Given the description of an element on the screen output the (x, y) to click on. 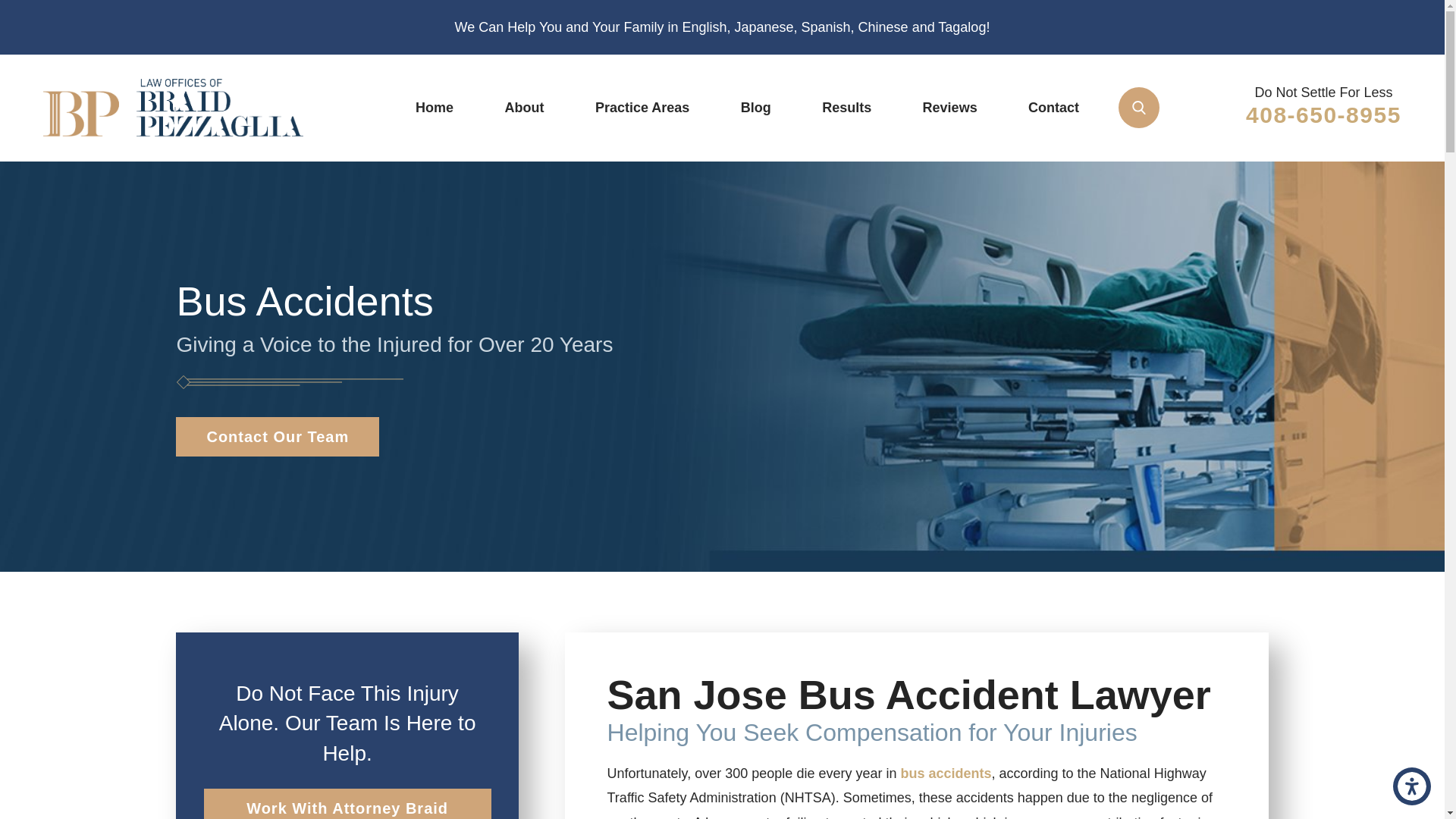
Search Our Site (1138, 106)
Open the accessibility options menu (1412, 786)
Law Offices of Braid Pezzaglia (172, 107)
Results (846, 107)
Search Icon (1138, 107)
Practice Areas (641, 107)
